Given the description of an element on the screen output the (x, y) to click on. 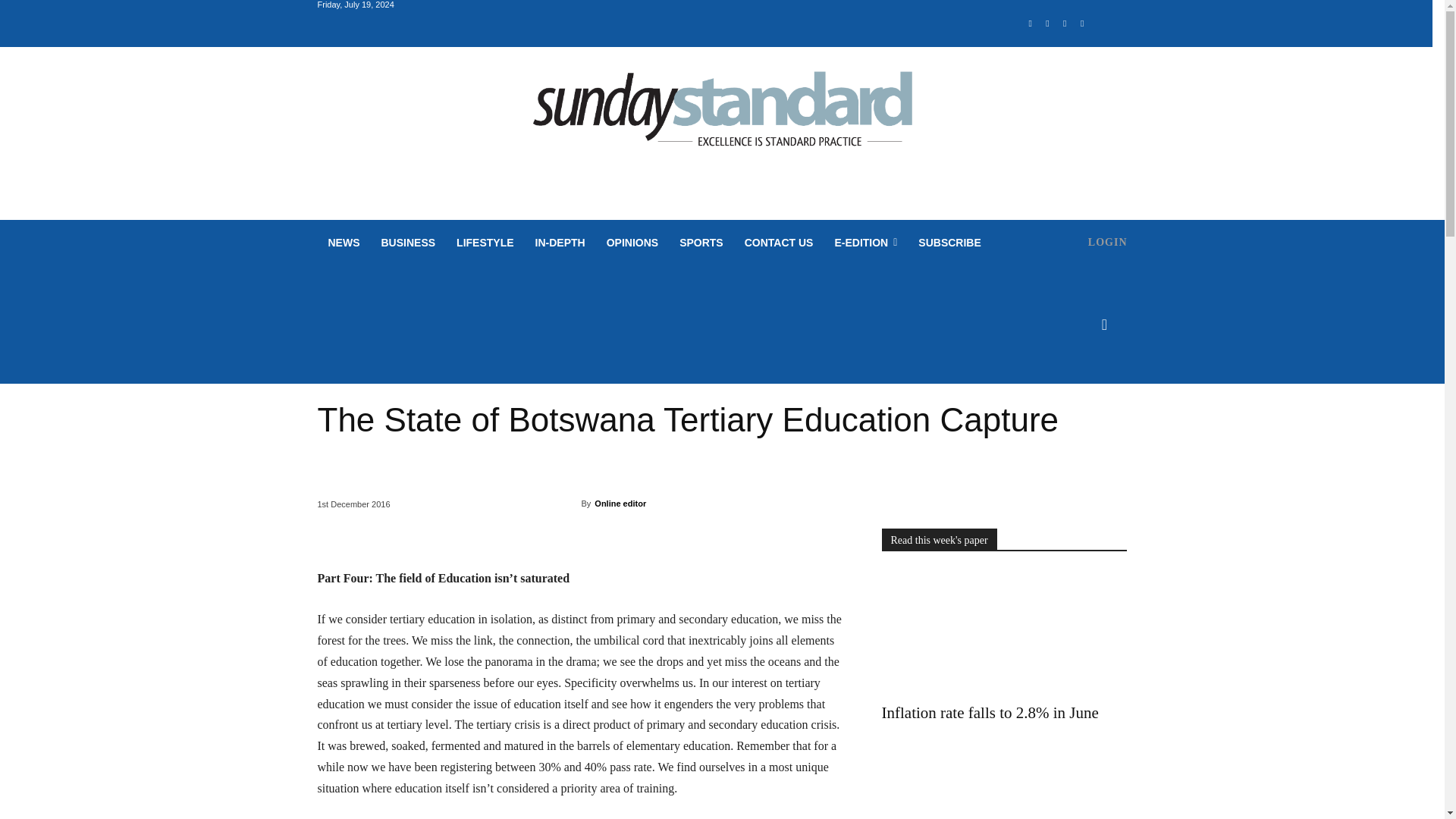
E-EDITION (865, 242)
Sunday Standard (721, 114)
Youtube (1082, 23)
Twitter (1065, 23)
LIFESTYLE (484, 242)
OPINIONS (631, 242)
CONTACT US (778, 242)
IN-DEPTH (559, 242)
NEWS (343, 242)
SPORTS (700, 242)
Facebook (1030, 23)
Sunday Standard (721, 114)
Instagram (1048, 23)
BUSINESS (407, 242)
